Given the description of an element on the screen output the (x, y) to click on. 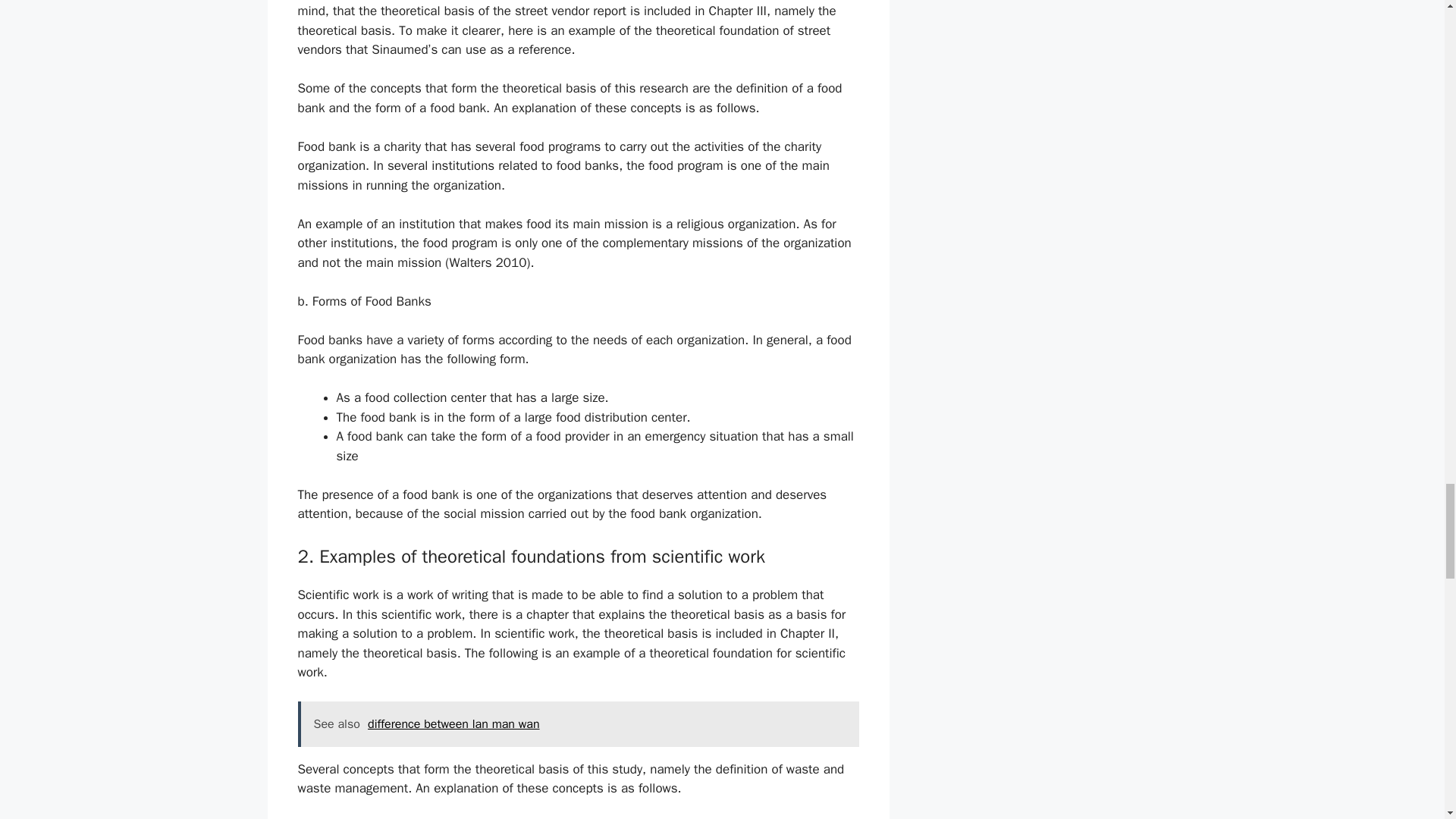
See also  difference between lan man wan (578, 723)
